Given the description of an element on the screen output the (x, y) to click on. 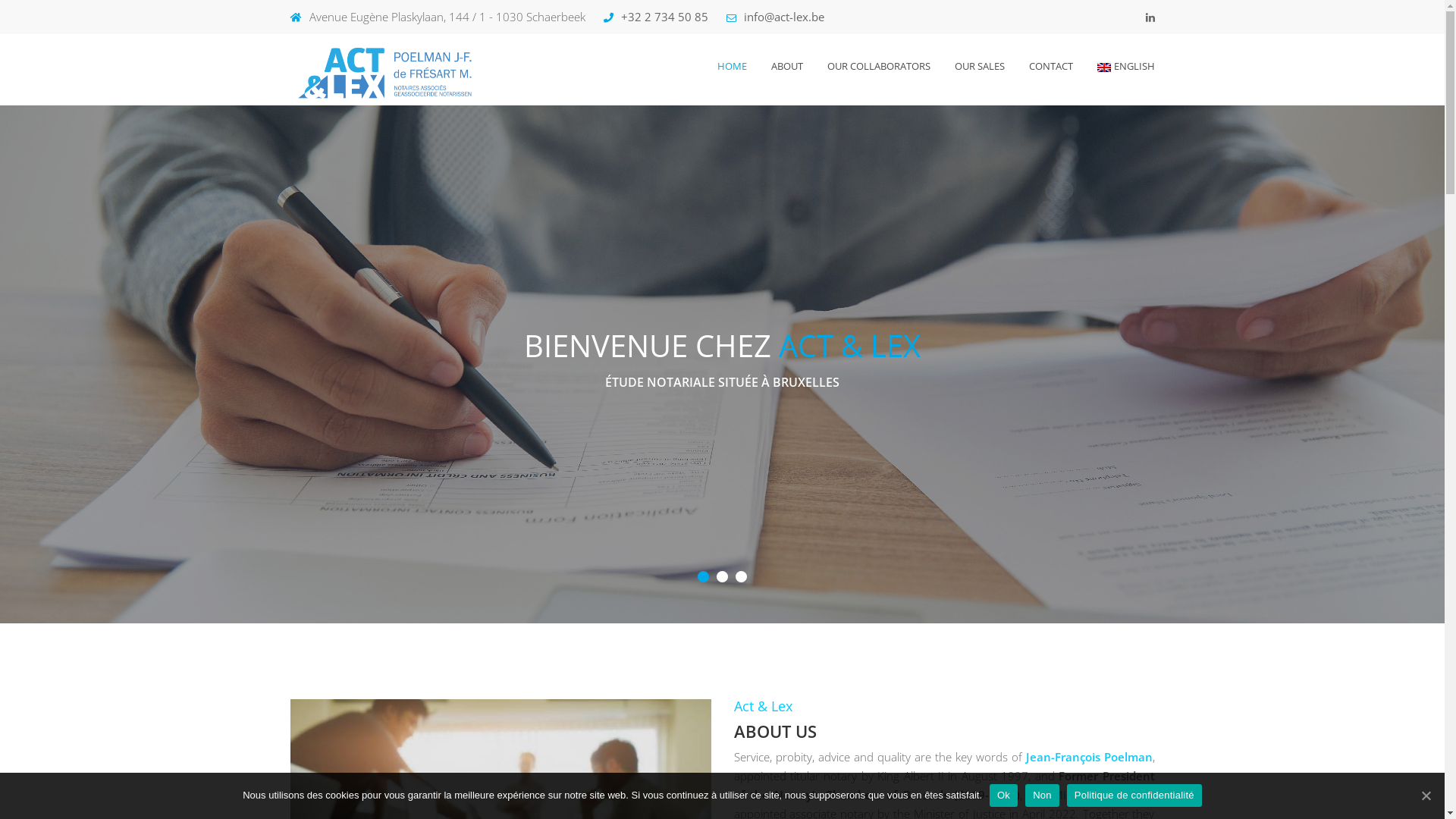
Act&Lex Element type: hover (389, 72)
2 Element type: text (722, 576)
Ok Element type: text (1003, 795)
OUR COLLABORATORS Element type: text (877, 66)
CONTACT Element type: text (1049, 66)
ABOUT Element type: text (785, 66)
3 Element type: text (740, 576)
info@act-lex.be Element type: text (775, 16)
ENGLISH Element type: text (1119, 66)
1 Element type: text (703, 576)
Non Element type: text (1042, 795)
+32 2 734 50 85 Element type: text (655, 16)
OUR SALES Element type: text (978, 66)
English Element type: hover (1103, 67)
Linkedin Element type: hover (1149, 16)
HOME Element type: text (731, 66)
